Given the description of an element on the screen output the (x, y) to click on. 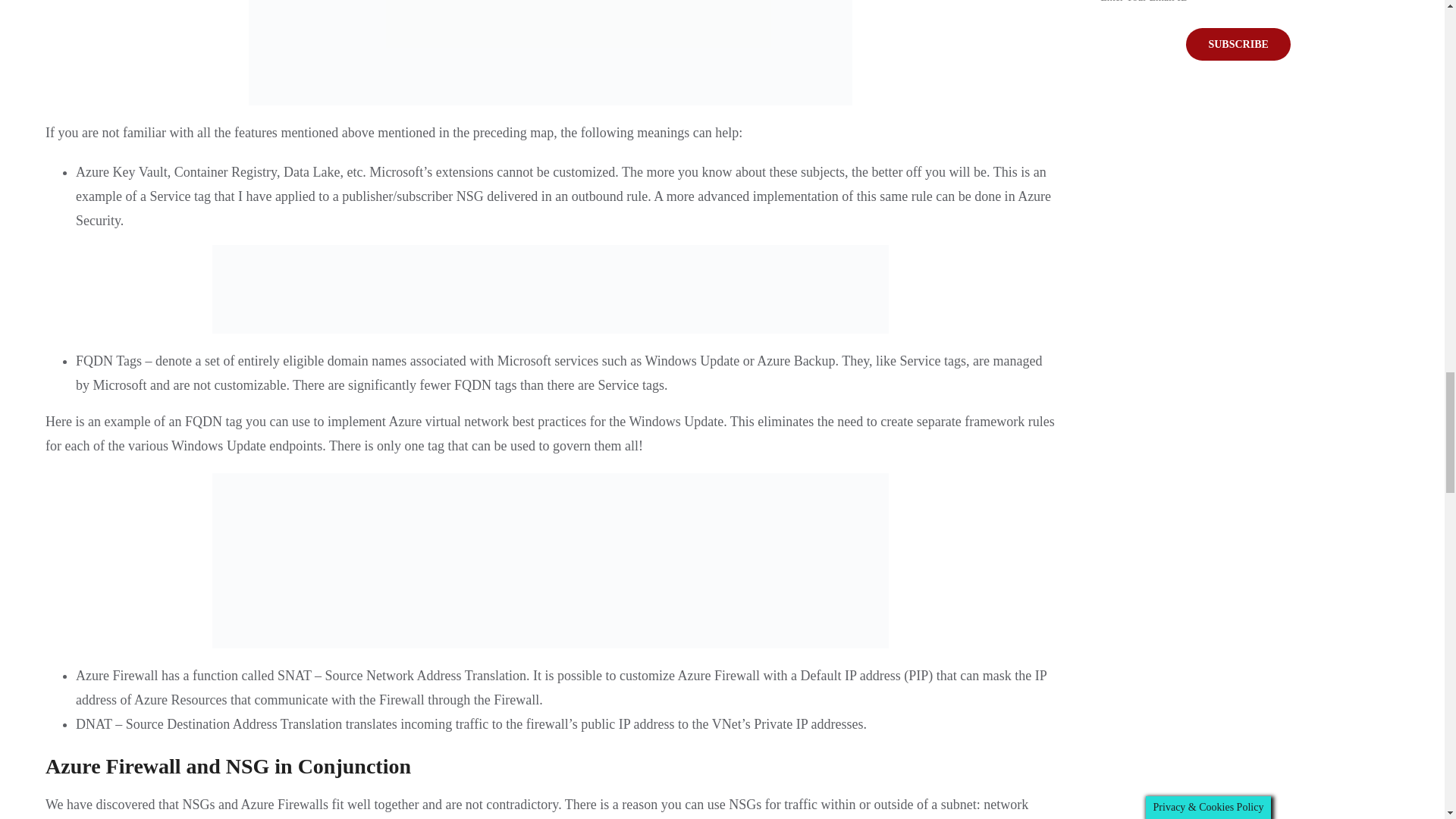
Subscribe (1238, 43)
Source: Darawtechie (549, 52)
Source: Darawtechie (550, 288)
Source: Darawtechie (550, 560)
